Given the description of an element on the screen output the (x, y) to click on. 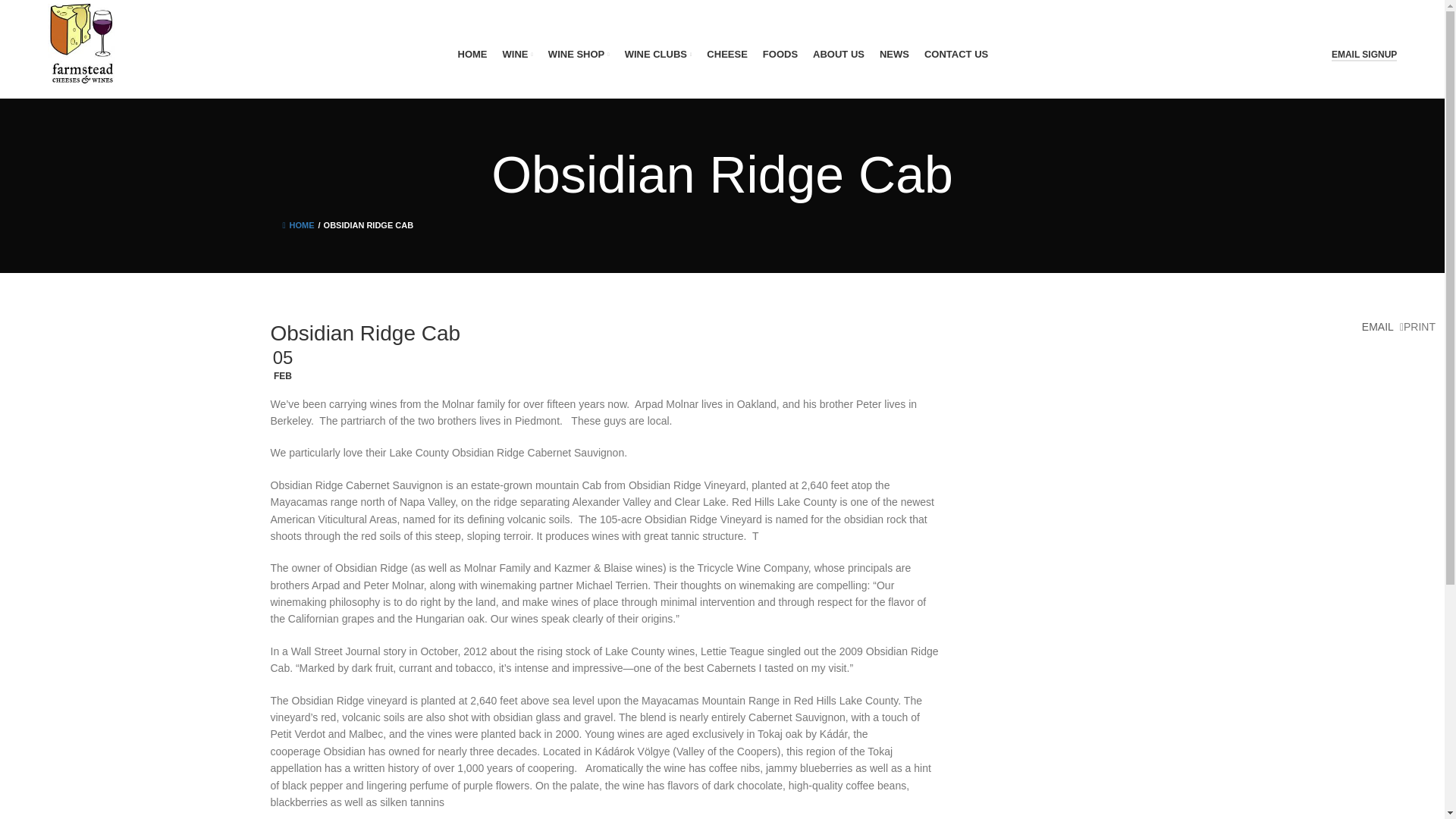
ABOUT US (838, 54)
CONTACT US (956, 54)
NEWS (893, 54)
WINE SHOP (579, 54)
CHEESE (726, 54)
HOME (472, 54)
EMAIL (1369, 326)
FOODS (779, 54)
WINE CLUBS (658, 54)
Obsidian Ridge Cab (368, 225)
